Given the description of an element on the screen output the (x, y) to click on. 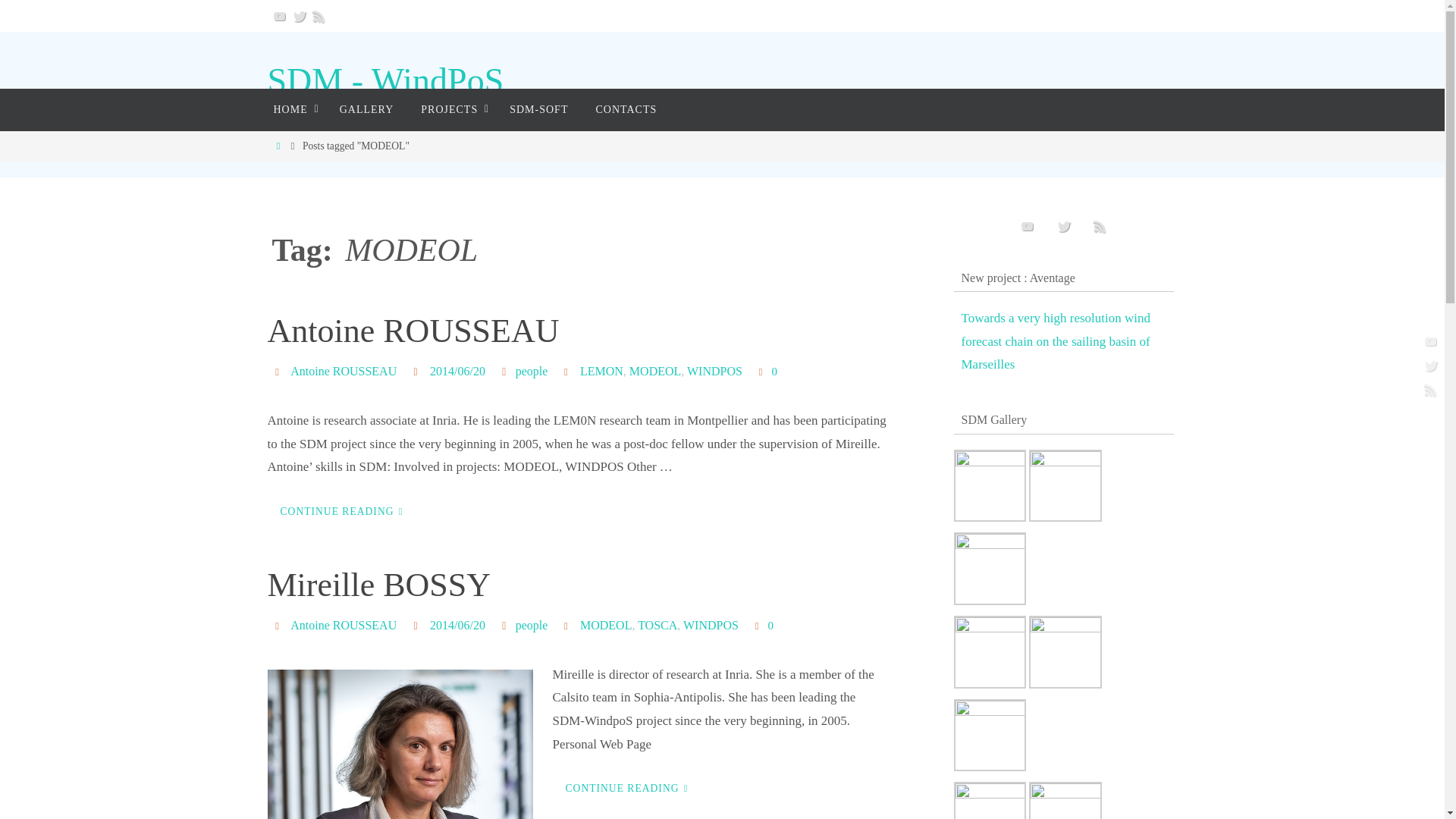
MODEOL (605, 625)
CONTINUE READING (342, 511)
TOSCA (657, 625)
CONTACTS (624, 109)
Categories (505, 370)
WINDPOS (710, 625)
Twitter (298, 15)
Antoine ROUSSEAU (412, 330)
SDM-SOFT (538, 109)
RSS (317, 15)
Author  (278, 370)
0 (761, 625)
HOME (291, 109)
SDM - WindPoS (384, 81)
Tags (569, 370)
